Given the description of an element on the screen output the (x, y) to click on. 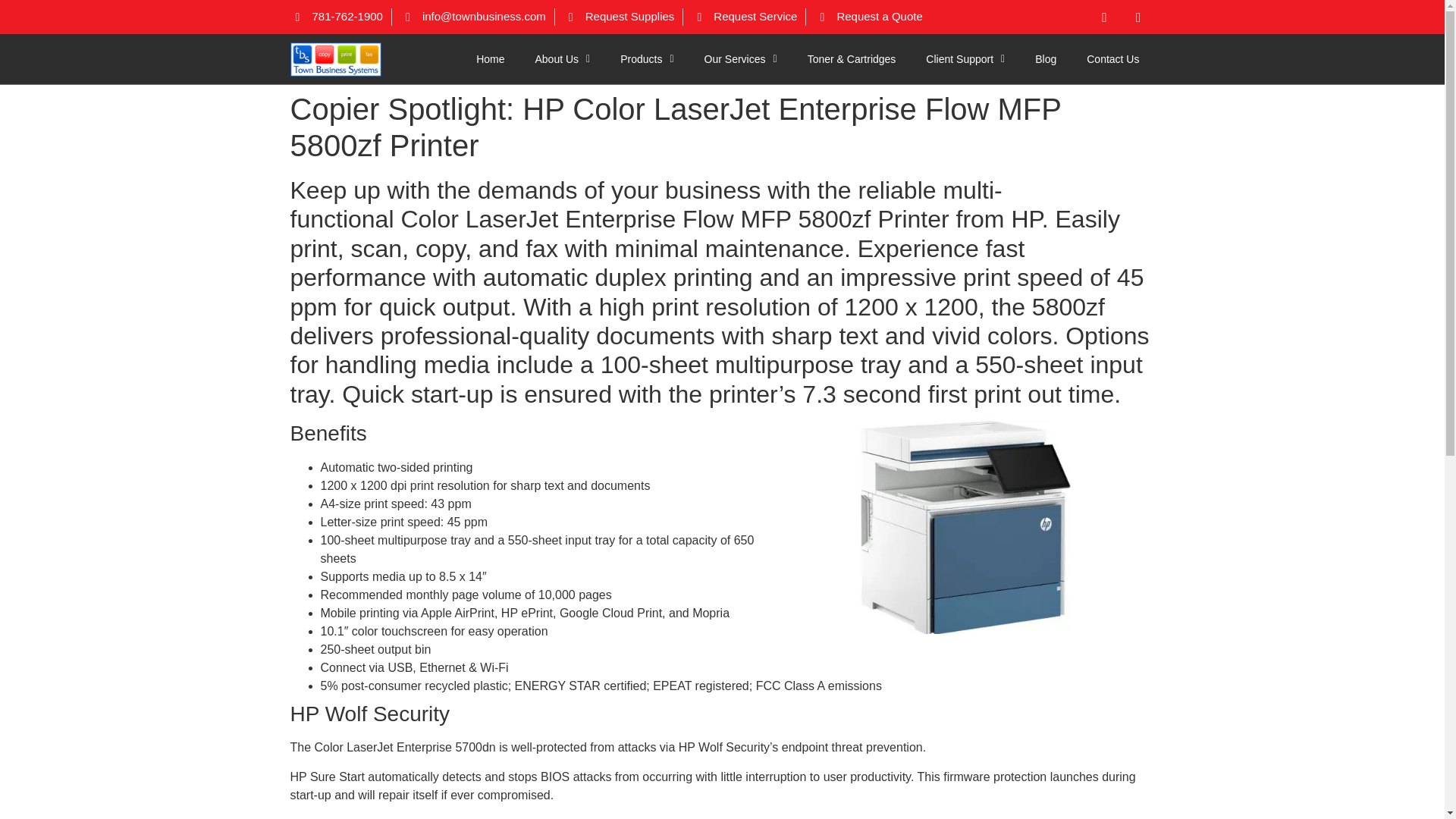
Products (646, 58)
781-762-1900 (335, 16)
Contact Us (1112, 58)
Our Services (740, 58)
Request Service (743, 16)
Home (490, 58)
Blog (1045, 58)
Request a Quote (867, 16)
About Us (562, 58)
Request Supplies (619, 16)
